Given the description of an element on the screen output the (x, y) to click on. 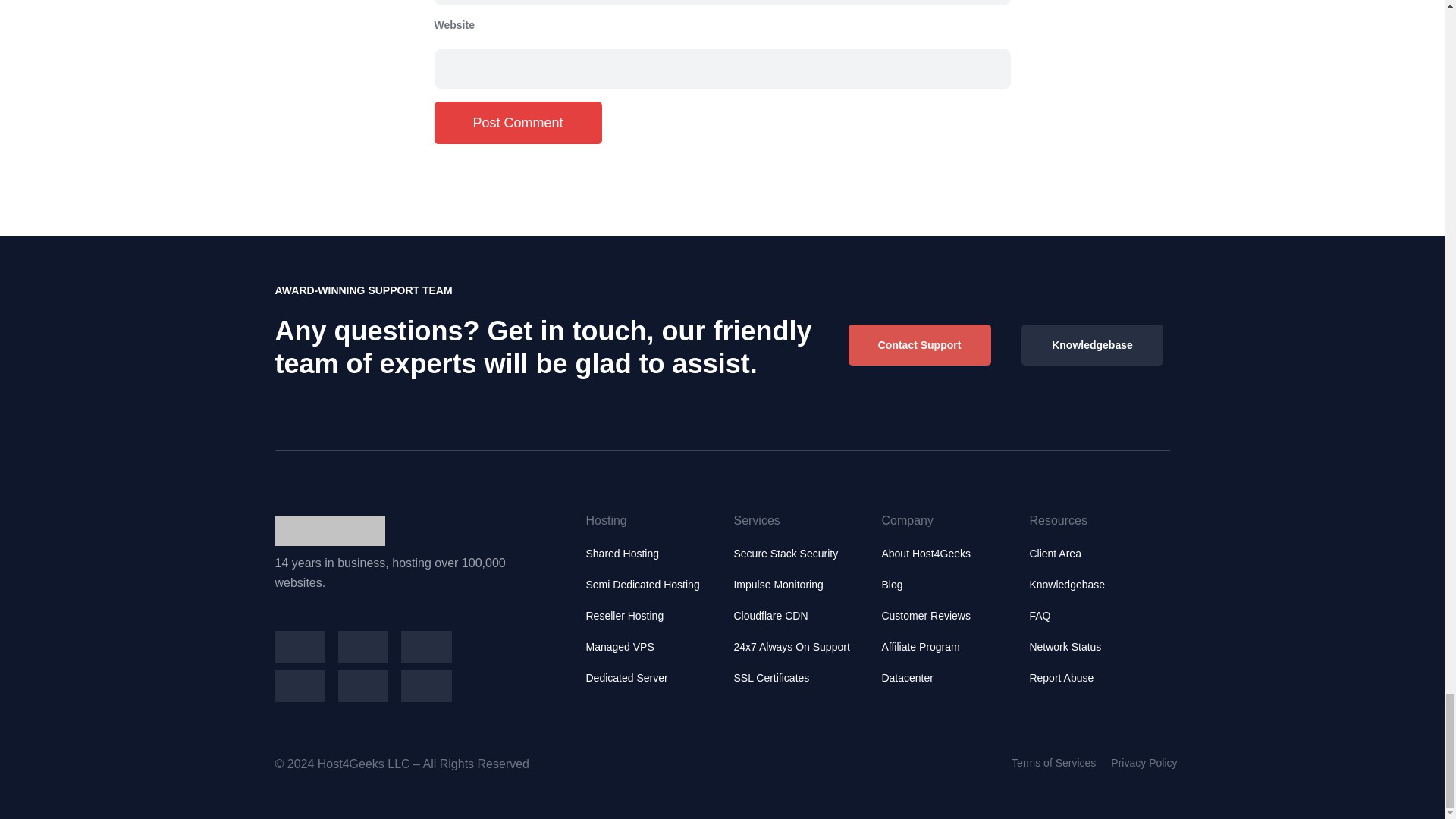
Contact Support (919, 344)
Knowledgebase (1092, 344)
logo new white (329, 530)
Post Comment (517, 121)
Post Comment (517, 121)
